Given the description of an element on the screen output the (x, y) to click on. 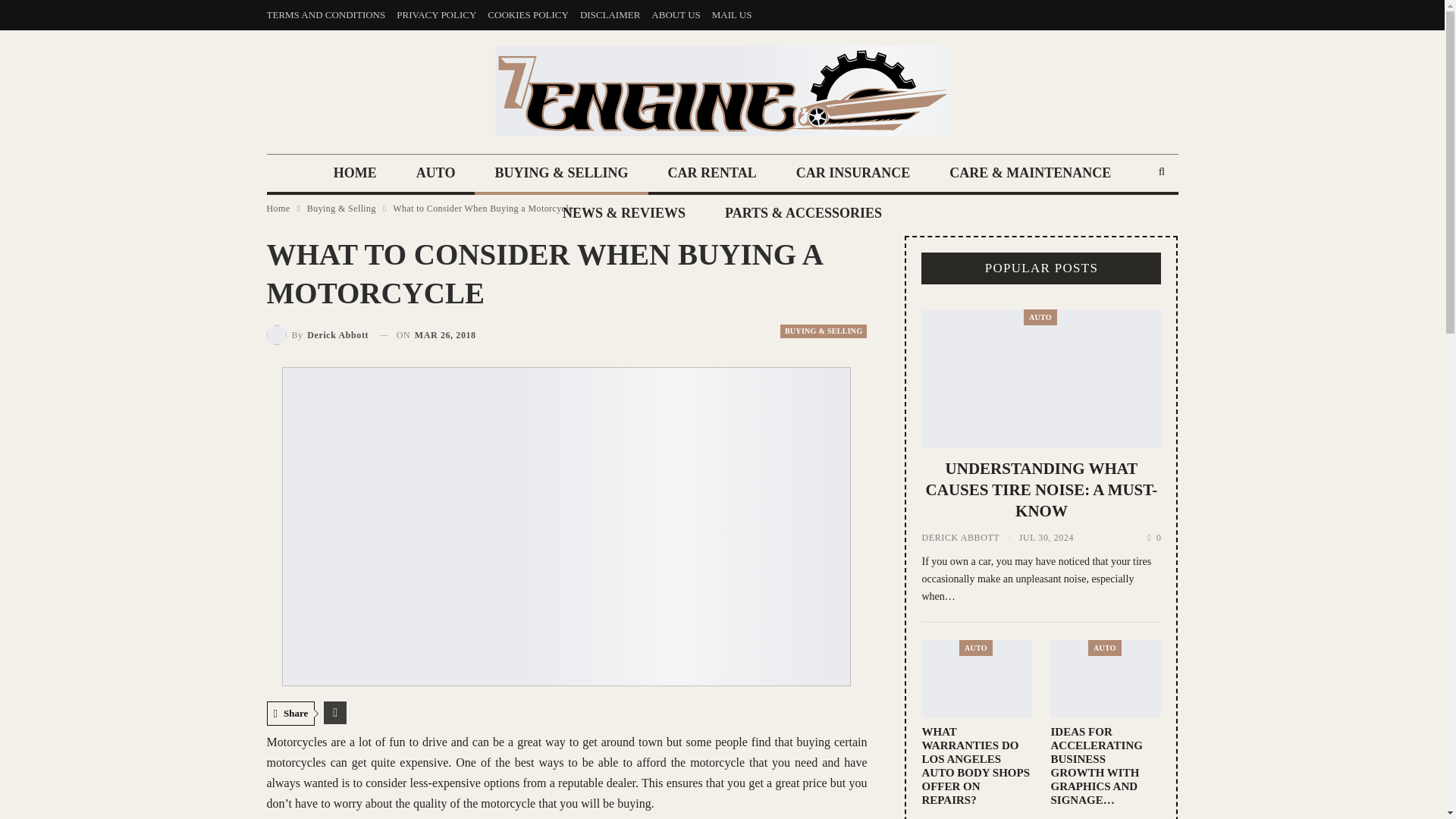
CAR INSURANCE (853, 174)
CAR RENTAL (711, 174)
TERMS AND CONDITIONS (325, 14)
AUTO (436, 174)
Home (277, 208)
DISCLAIMER (609, 14)
Understanding What Causes Tire Noise: A Must-Know (1040, 378)
Browse Author Articles (317, 333)
HOME (355, 174)
MAIL US (731, 14)
PRIVACY POLICY (436, 14)
COOKIES POLICY (528, 14)
By Derick Abbott (317, 333)
ABOUT US (675, 14)
